Given the description of an element on the screen output the (x, y) to click on. 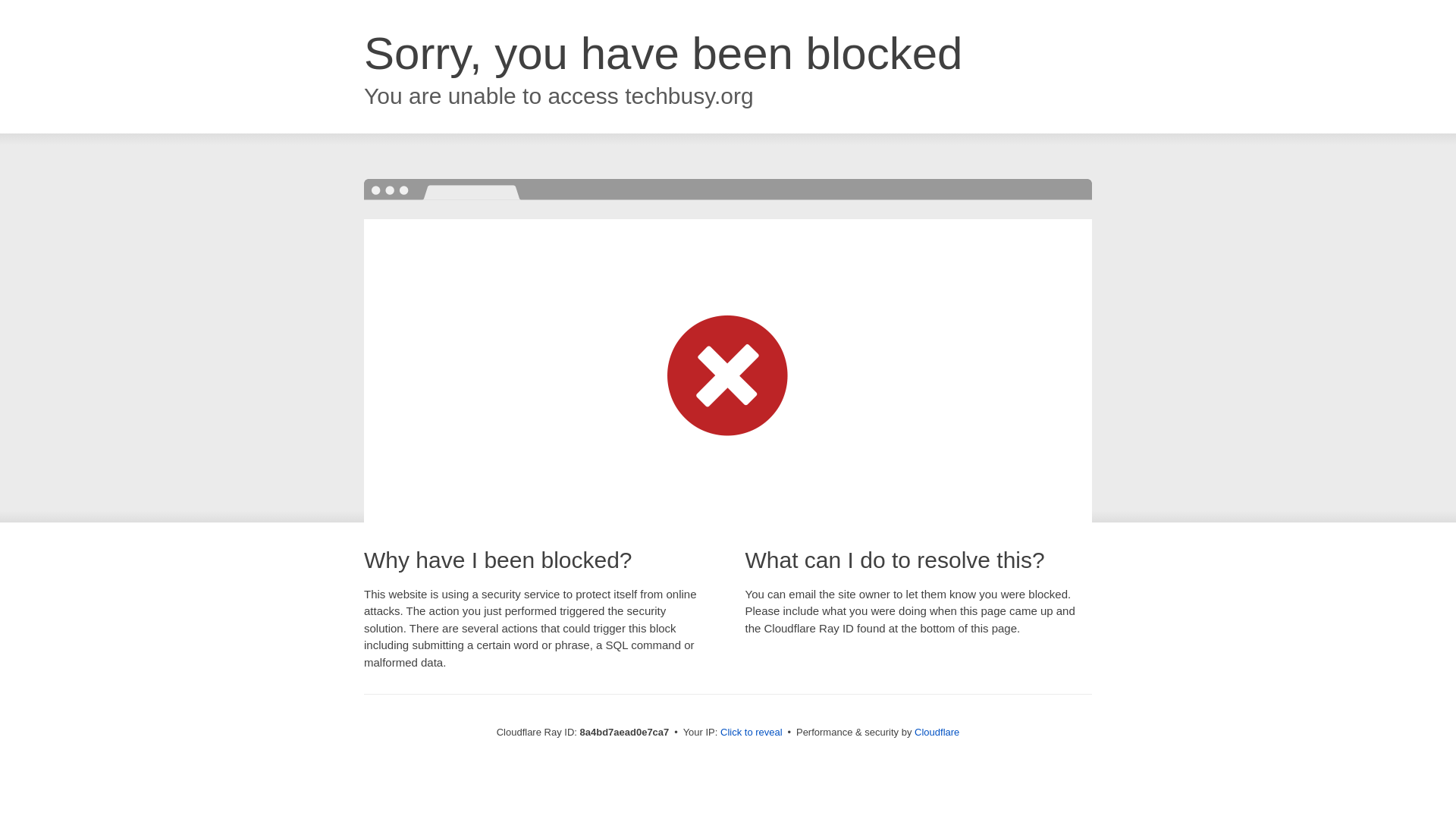
Cloudflare (936, 731)
Click to reveal (751, 732)
